Given the description of an element on the screen output the (x, y) to click on. 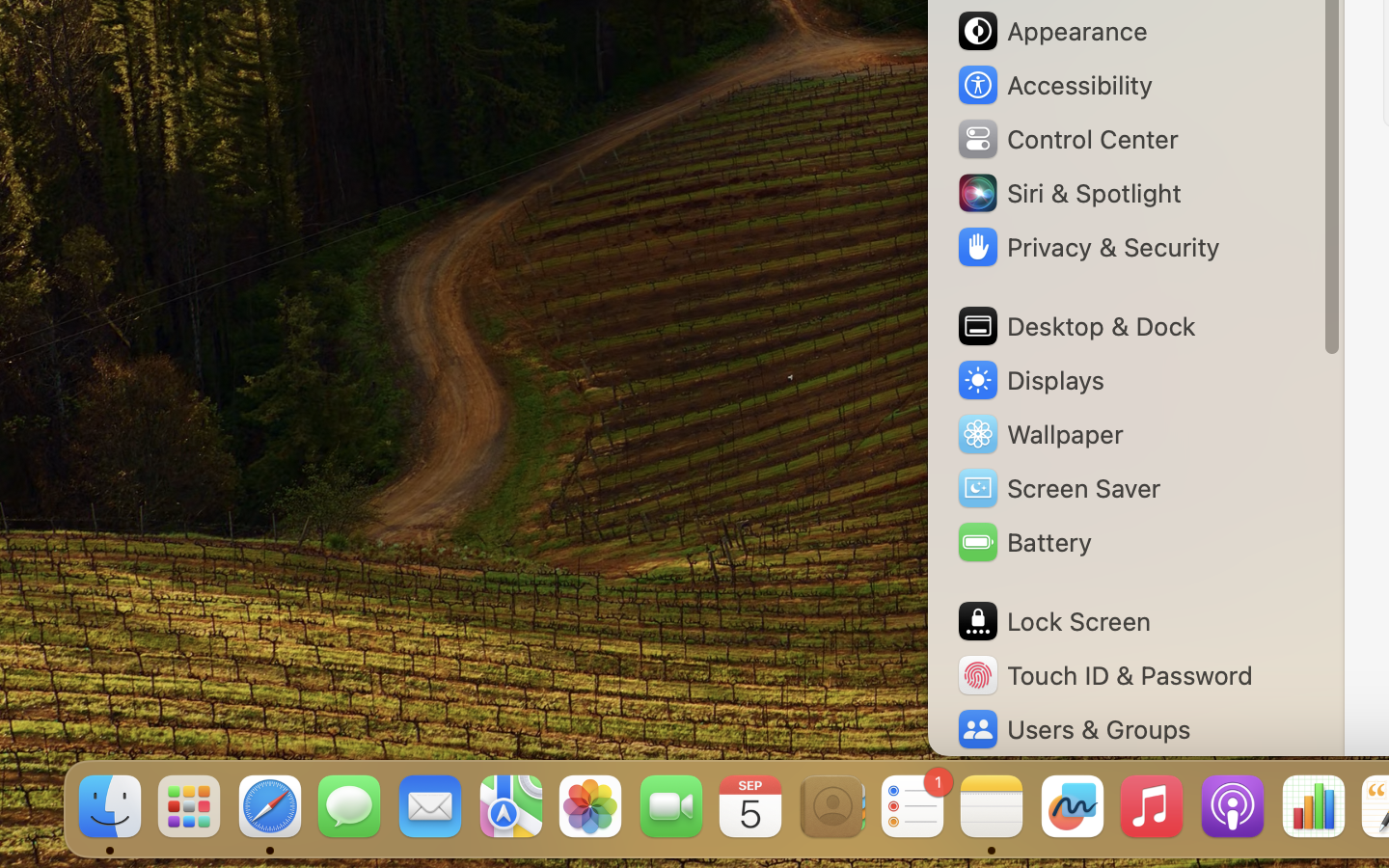
Displays Element type: AXStaticText (1029, 379)
Control Center Element type: AXStaticText (1066, 138)
Lock Screen Element type: AXStaticText (1052, 620)
